Given the description of an element on the screen output the (x, y) to click on. 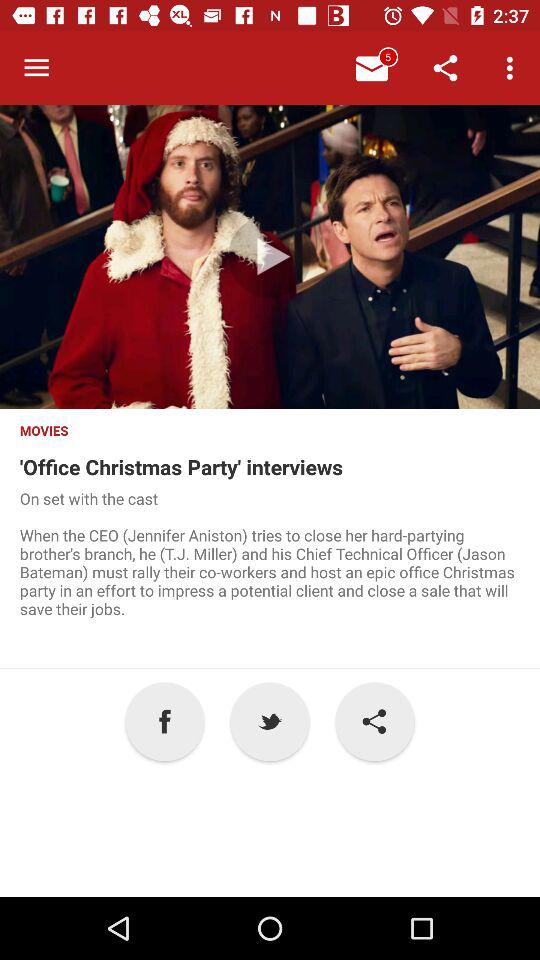
scroll until the ! item (374, 721)
